Given the description of an element on the screen output the (x, y) to click on. 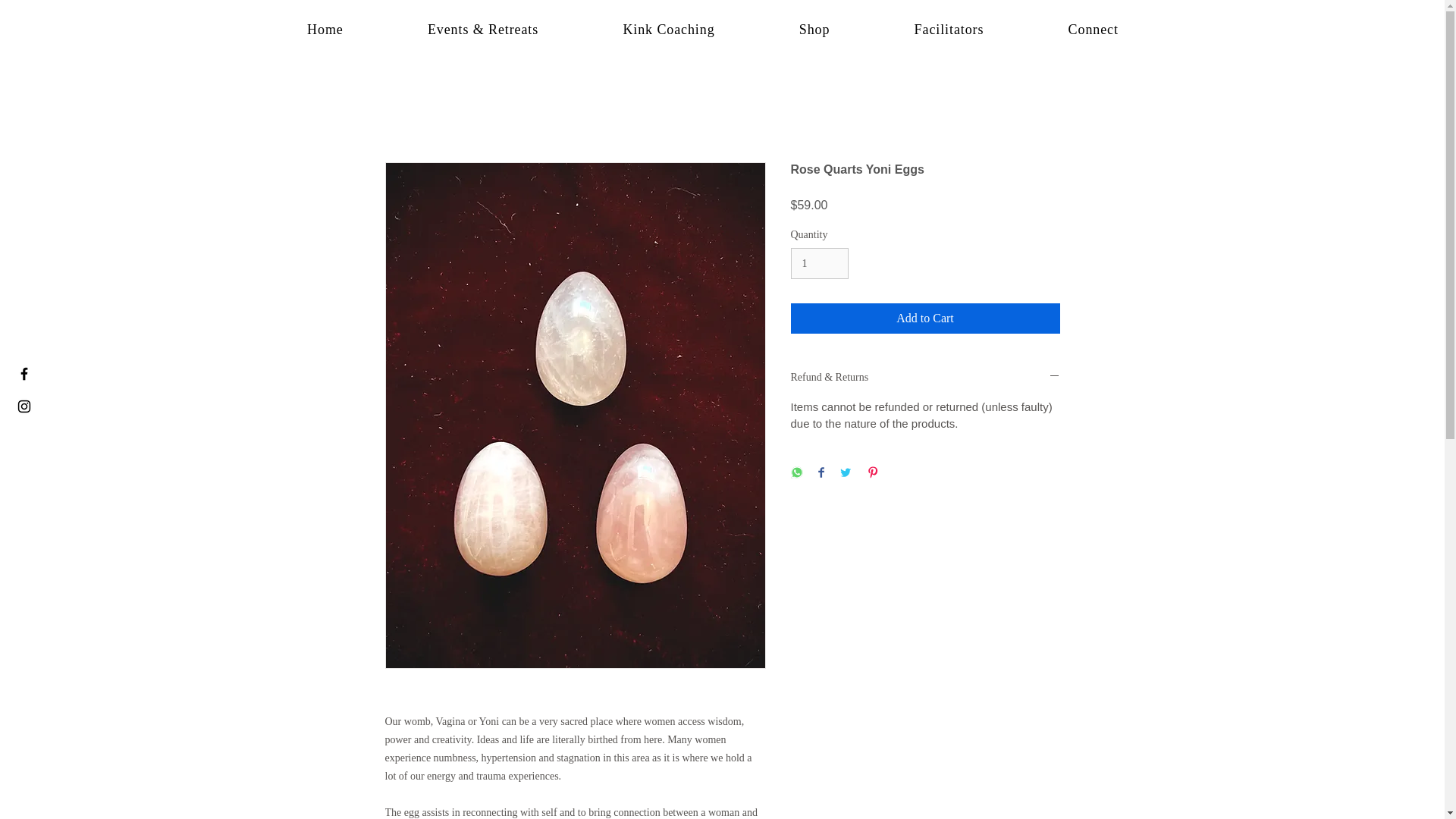
Add to Cart (924, 318)
1 (818, 263)
Facilitators (949, 29)
Shop (814, 29)
Kink Coaching (668, 29)
Connect (1093, 29)
Home (324, 29)
